Given the description of an element on the screen output the (x, y) to click on. 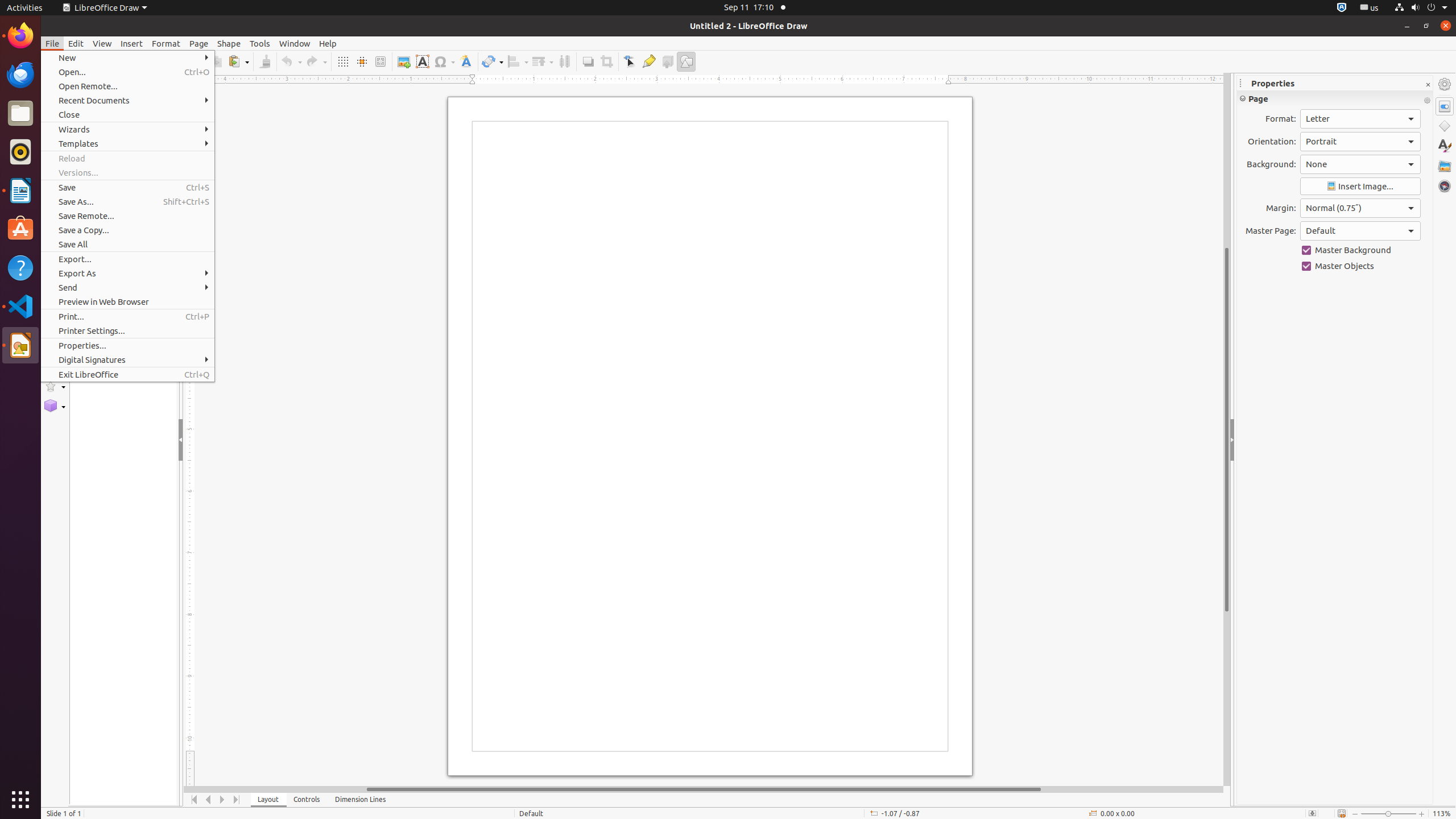
Glue Points Element type: push-button (648, 61)
View Element type: menu (102, 43)
New Element type: menu (127, 57)
Close Pane Element type: push-button (172, 82)
Curves and Polygons Element type: push-button (54, 242)
